Given the description of an element on the screen output the (x, y) to click on. 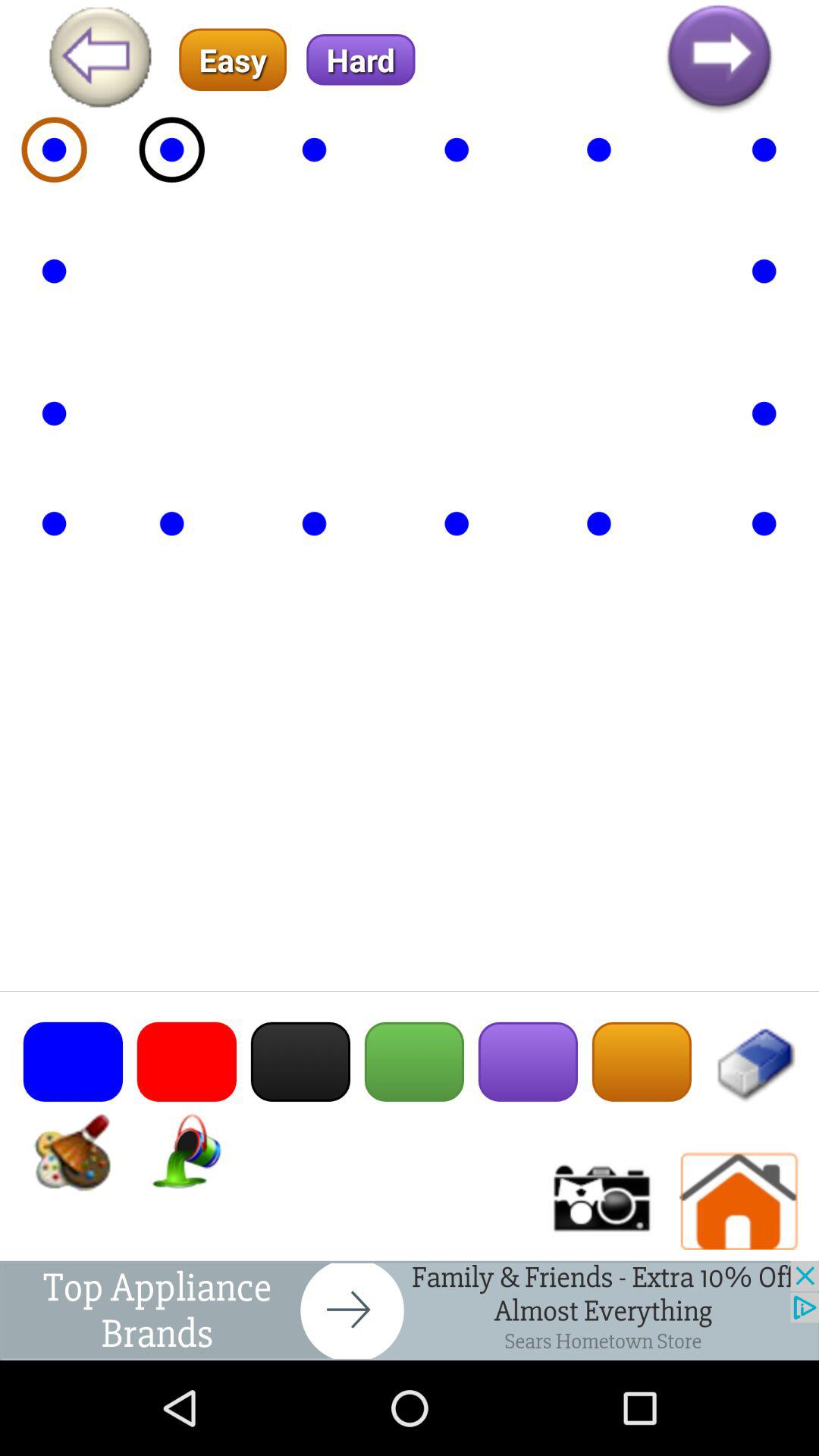
open advertisement (409, 1310)
